Given the description of an element on the screen output the (x, y) to click on. 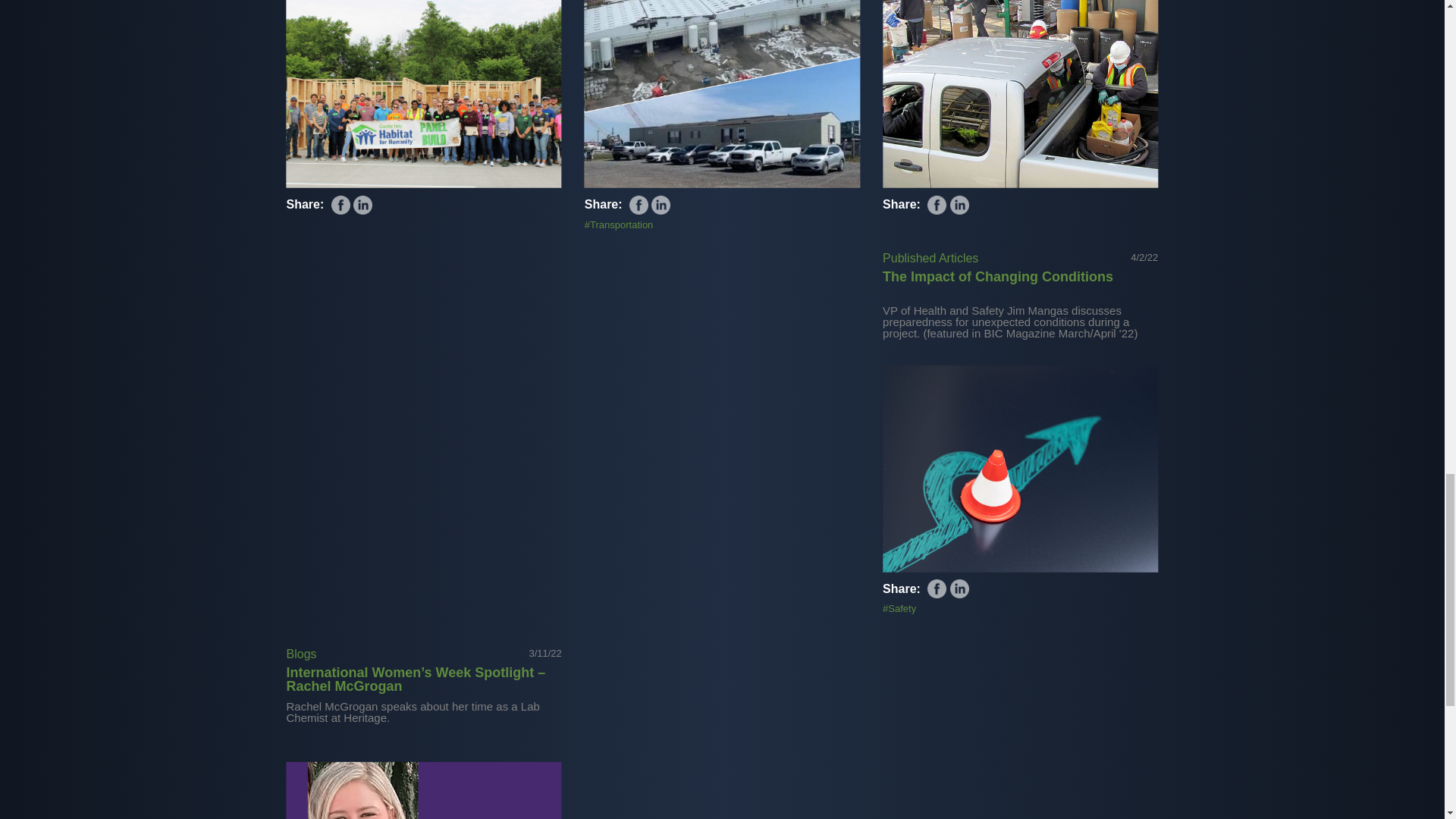
Share on LinkedIn (959, 204)
Share on LinkedIn (659, 204)
Share on Facebook (637, 204)
Share on Facebook (936, 588)
Share on Facebook (936, 204)
Share on LinkedIn (959, 588)
Share on LinkedIn (362, 204)
Share on Facebook (340, 204)
